Given the description of an element on the screen output the (x, y) to click on. 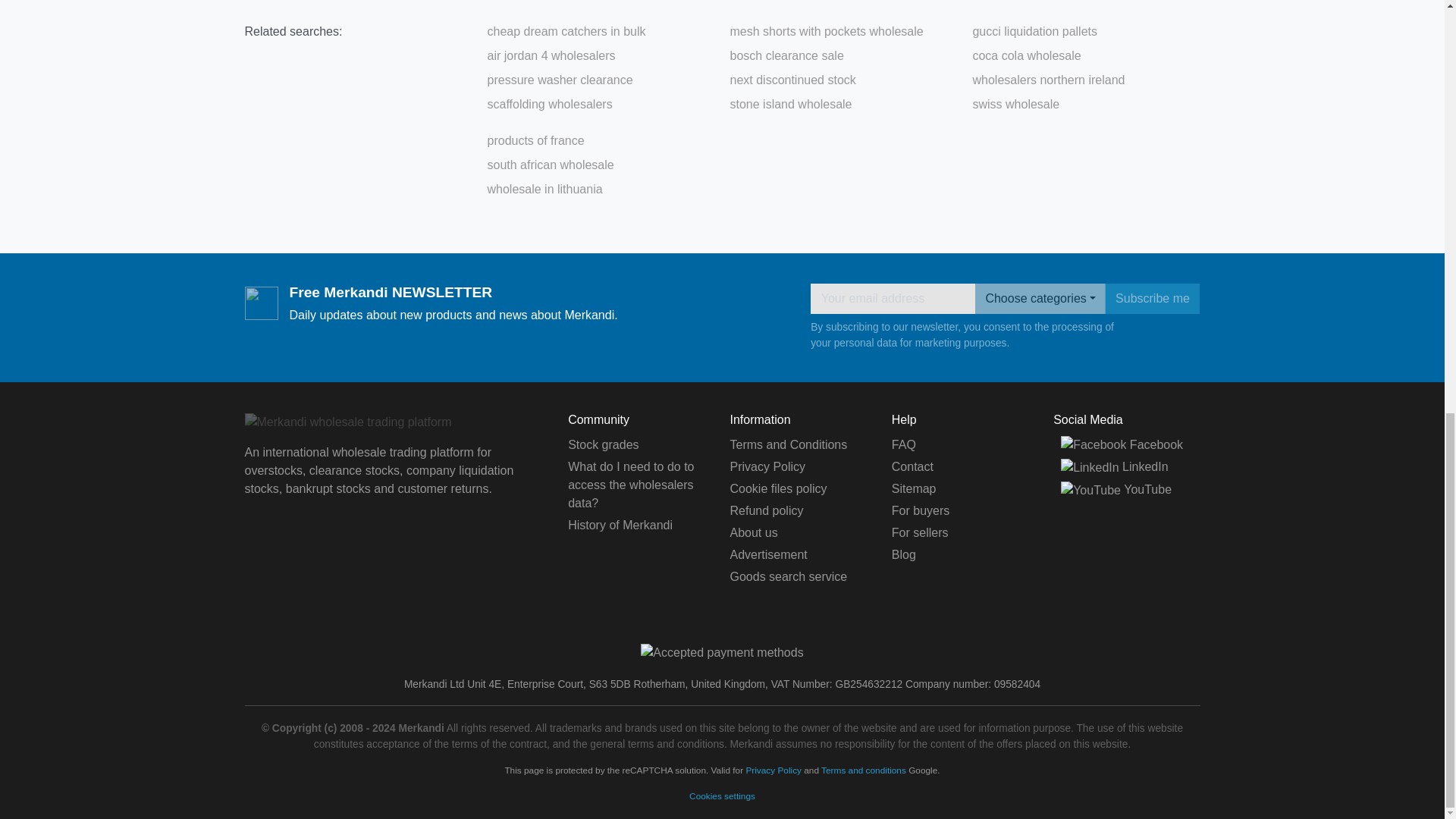
LinkedIn (1114, 466)
Facebook (1121, 444)
Privacy Policy (767, 466)
History of Merkandi (619, 524)
FAQ (903, 444)
For sellers (920, 532)
Terms and Conditions (788, 444)
Contact (912, 466)
Refund policy (766, 510)
Goods search service (788, 576)
Blog (903, 554)
Stock grades (603, 444)
For buyers (920, 510)
Sitemap (913, 488)
Cookie files policy (778, 488)
